Given the description of an element on the screen output the (x, y) to click on. 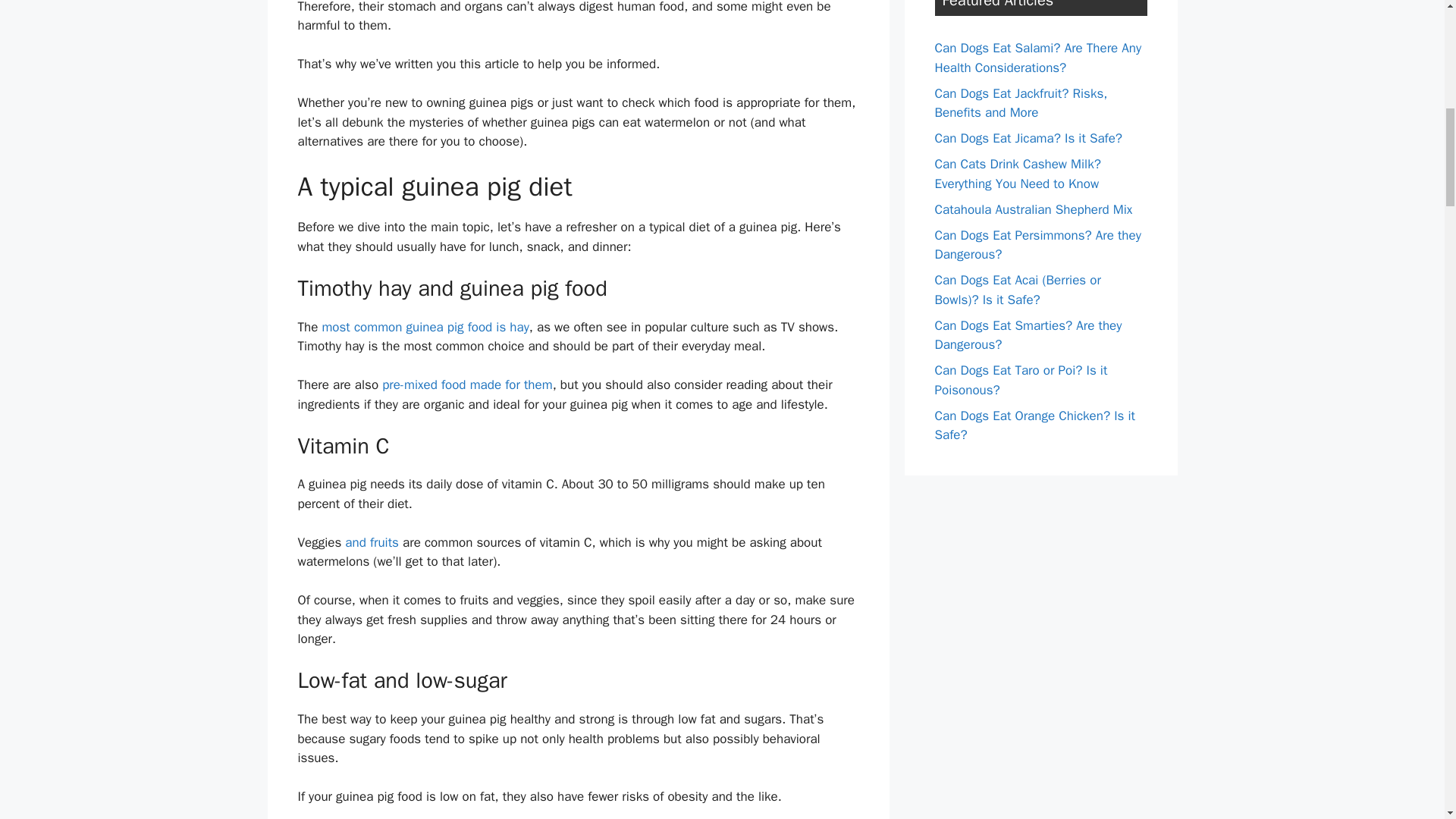
Can Dogs Eat Salami? Are There Any Health Considerations? (1037, 58)
and fruits (371, 542)
Can Cats Drink Cashew Milk? Everything You Need to Know (1017, 173)
pre-mixed food made for them (466, 384)
Can Dogs Eat Jicama? Is it Safe? (1028, 138)
Can Dogs Eat Jackfruit? Risks, Benefits and More (1020, 102)
most common guinea pig food is hay (424, 326)
